Given the description of an element on the screen output the (x, y) to click on. 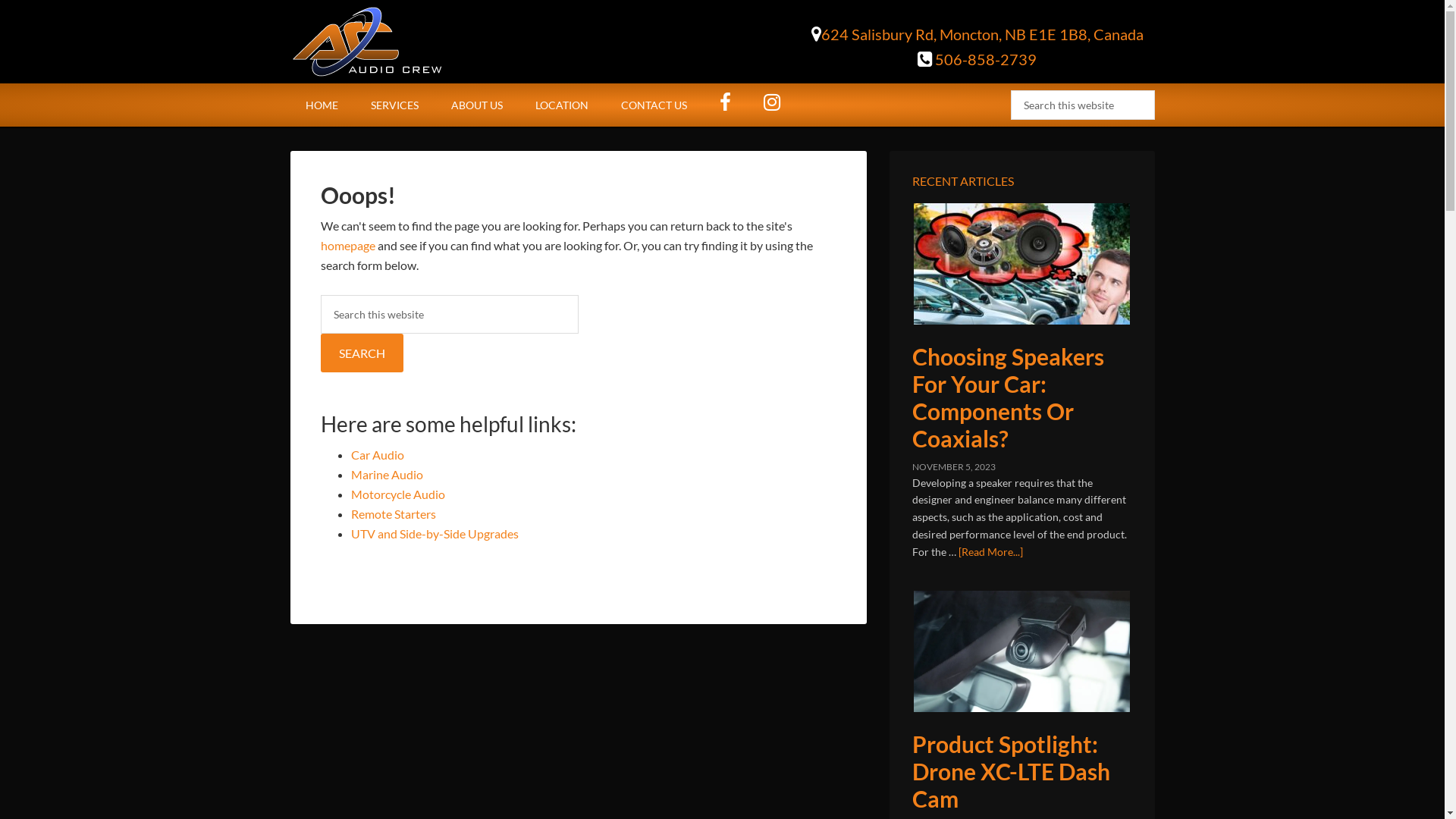
Product Spotlight: Drone XC-LTE Dash Cam Element type: text (1010, 771)
Product Spotlight: Drone XC-LTE Dash Cam Element type: hover (1021, 651)
624 Salisbury Rd, Moncton, NB E1E 1B8, Canada Element type: text (976, 34)
UTV and Side-by-Side Upgrades Element type: text (433, 533)
506-858-2739 Element type: text (976, 59)
Search Element type: text (361, 352)
homepage Element type: text (347, 245)
LOCATION Element type: text (561, 104)
Car Audio Element type: text (376, 454)
Choosing Speakers For Your Car: Components Or Coaxials? Element type: text (1007, 396)
CONTACT US Element type: text (653, 104)
Marine Audio Element type: text (386, 474)
SERVICES Element type: text (393, 104)
ABOUT US Element type: text (476, 104)
Choosing Speakers For Your Car: Components Or Coaxials? Element type: hover (1021, 263)
Remote Starters Element type: text (392, 513)
Search Element type: text (1154, 89)
HOME Element type: text (320, 104)
AUDIO CREW Element type: text (418, 41)
[Read More...] Element type: text (990, 551)
Motorcycle Audio Element type: text (397, 493)
